Given the description of an element on the screen output the (x, y) to click on. 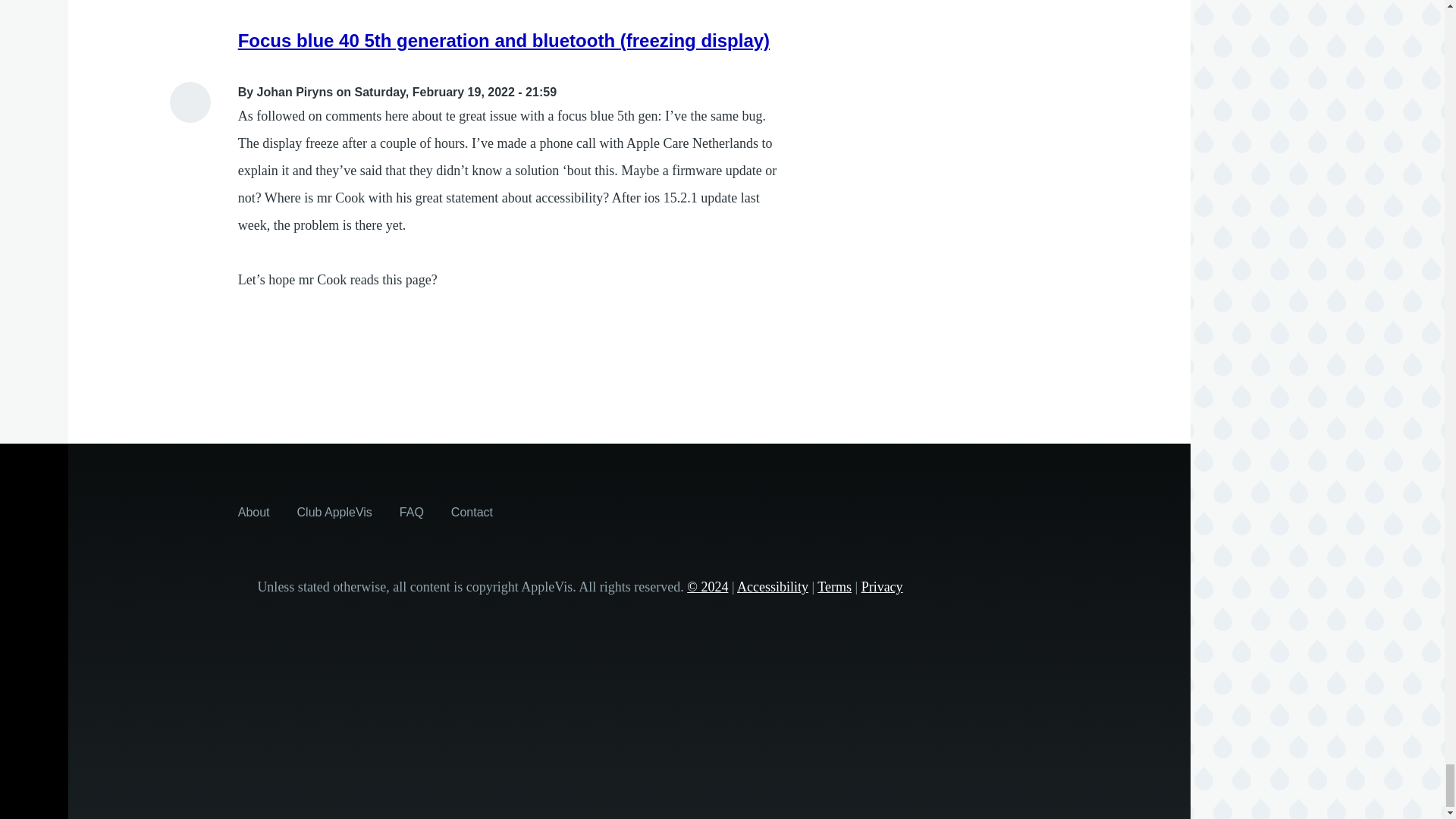
Answers to some frequently asked questions about AppleVis (410, 511)
About (253, 511)
